Given the description of an element on the screen output the (x, y) to click on. 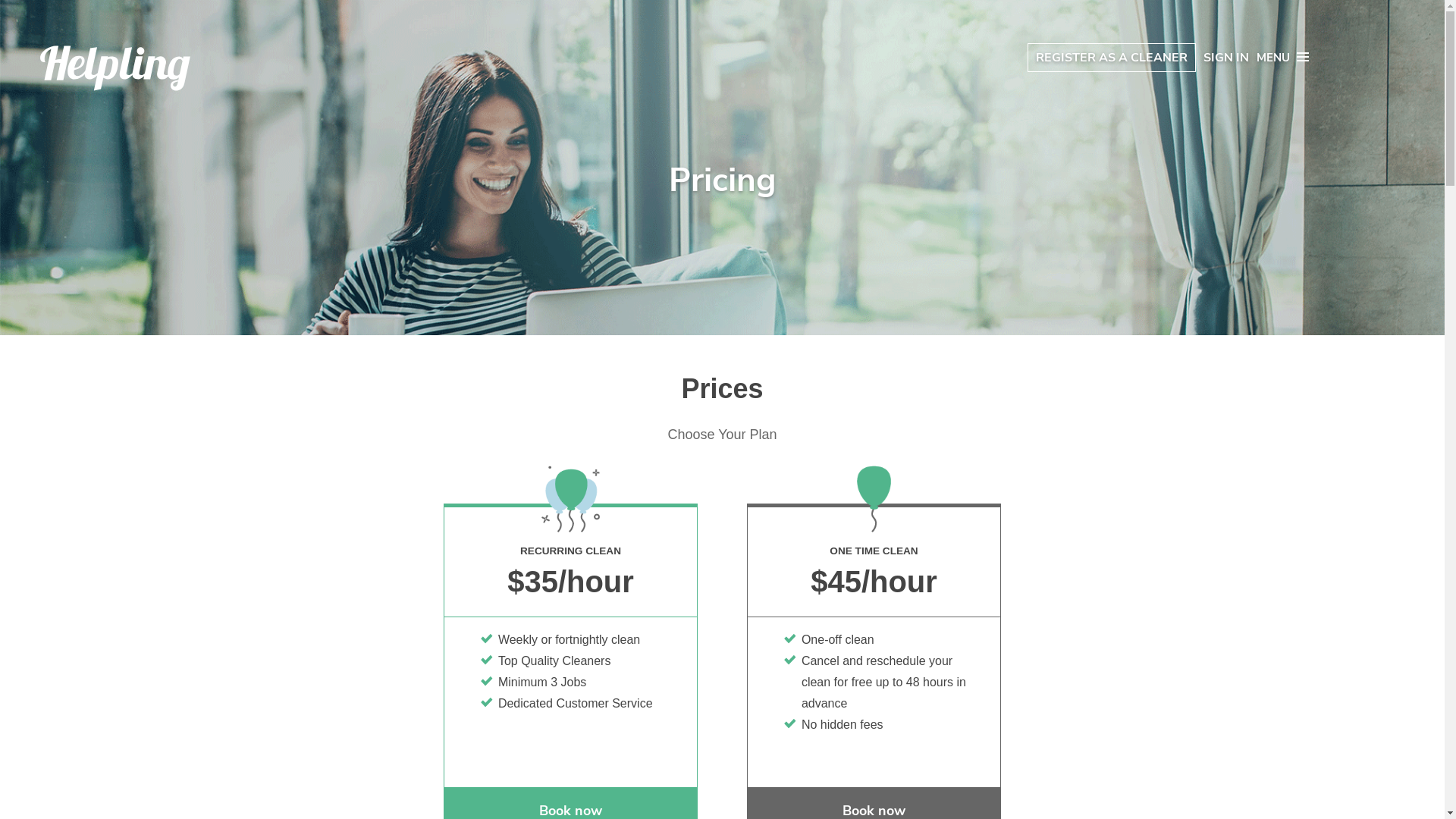
SIGN IN Element type: text (1225, 57)
REGISTER AS A CLEANER Element type: text (1111, 57)
